Given the description of an element on the screen output the (x, y) to click on. 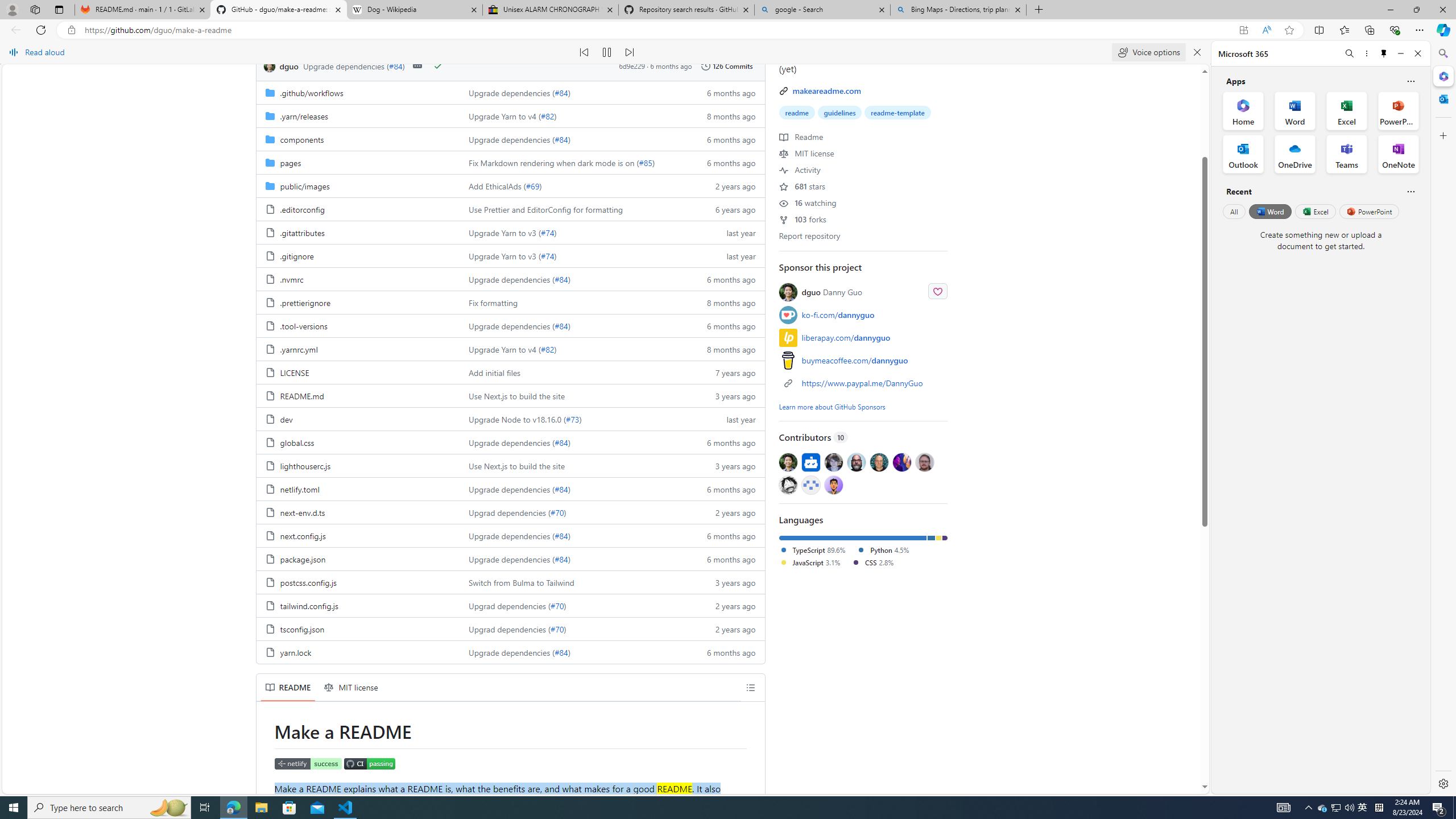
#69 (532, 185)
Dog - Wikipedia (414, 9)
Use Next.js to build the site (573, 465)
Add initial files (494, 372)
AutomationID: folder-row-19 (510, 535)
AutomationID: folder-row-12 (510, 372)
@web3Gurung (833, 484)
OneDrive Office App (1295, 154)
AutomationID: folder-row-21 (510, 581)
dguo (269, 66)
buymeacoffee.com/dannyguo (854, 360)
components, (Directory) (358, 138)
Continue to read aloud (Ctrl+Shift+U) (606, 52)
